Given the description of an element on the screen output the (x, y) to click on. 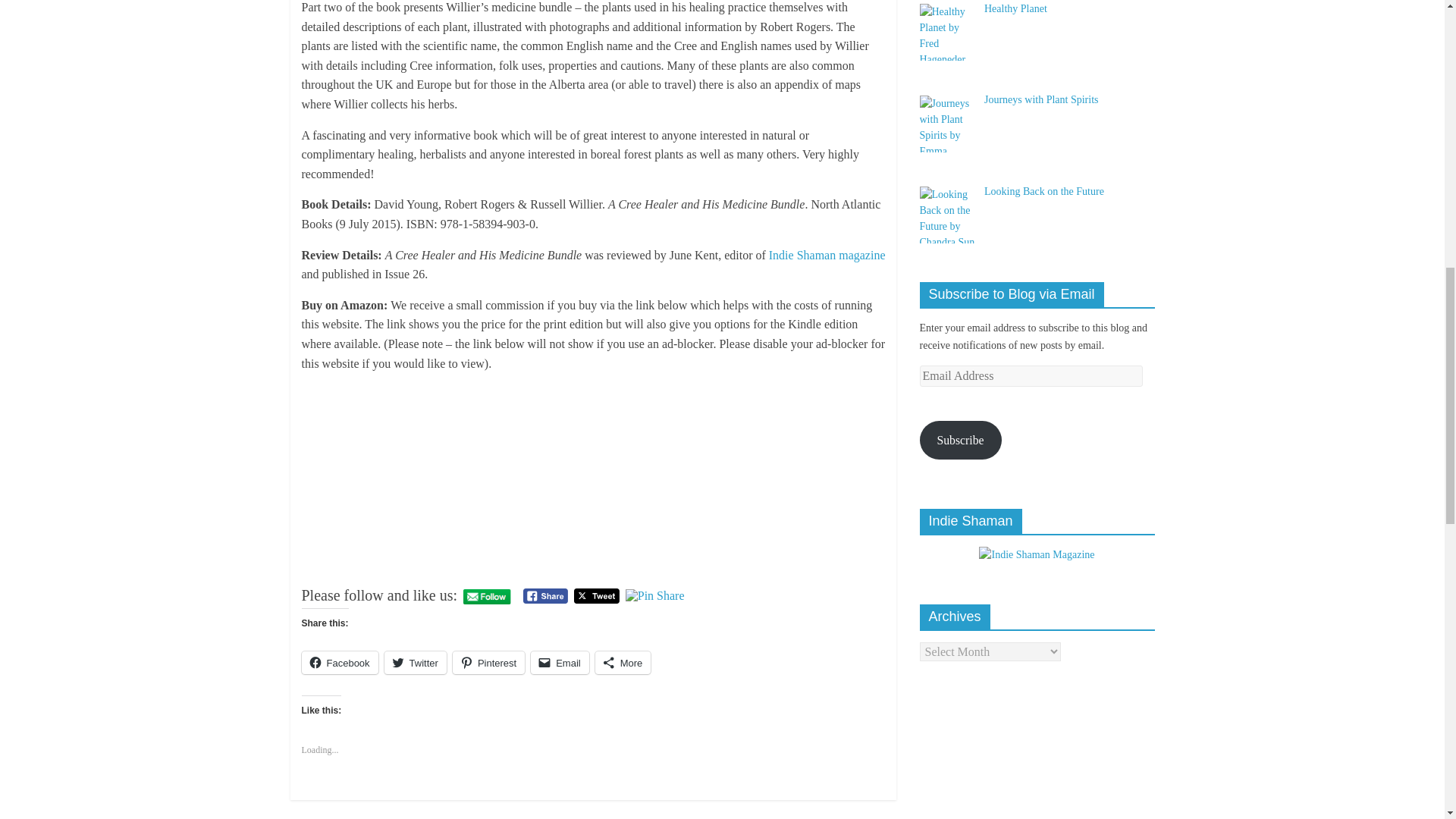
Click to share on Facebook (339, 662)
Pin Share (655, 595)
Tweet (596, 595)
Click to share on Twitter (415, 662)
Facebook Share (544, 595)
Indie Shaman magazine (826, 254)
Click to share on Pinterest (488, 662)
Click to email a link to a friend (560, 662)
